Given the description of an element on the screen output the (x, y) to click on. 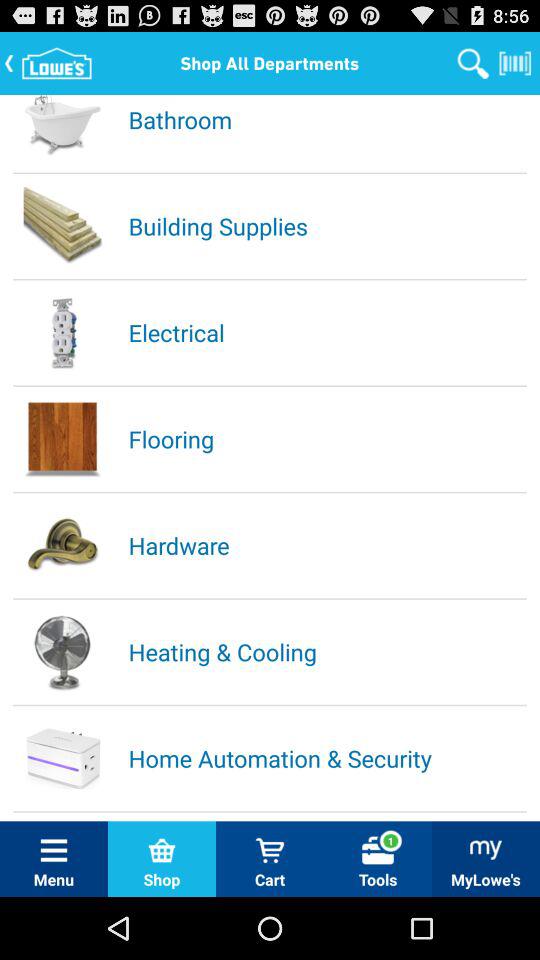
choose the icon below the building supplies (326, 332)
